Given the description of an element on the screen output the (x, y) to click on. 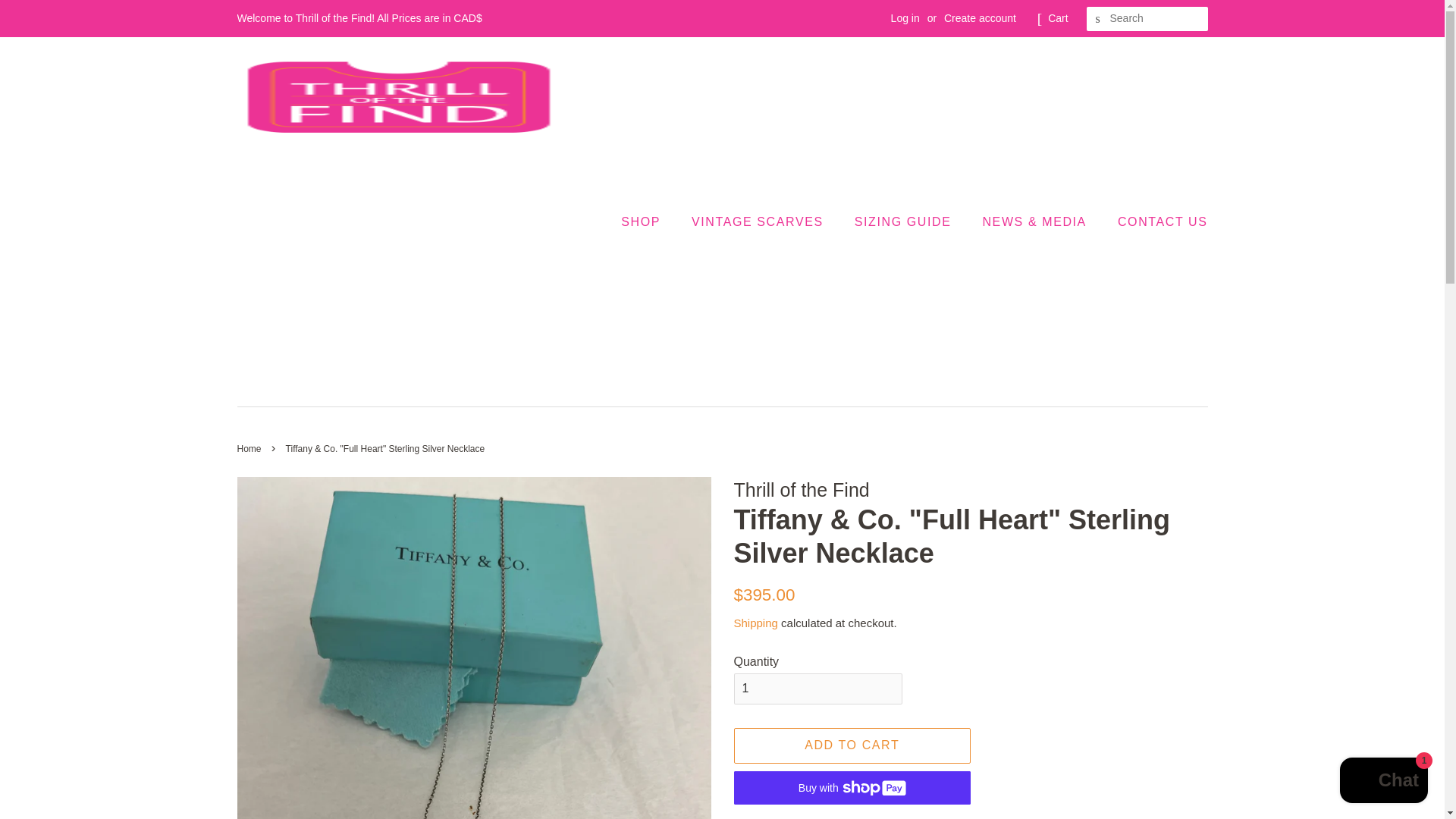
SEARCH (1097, 18)
Create account (979, 18)
SIZING GUIDE (904, 221)
ADD TO CART (852, 745)
CONTACT US (1157, 221)
VINTAGE SCARVES (758, 221)
Shopify online store chat (1383, 781)
1 (817, 688)
Home (249, 448)
Cart (1057, 18)
Back to the frontpage (249, 448)
More payment options (852, 815)
Log in (905, 18)
Shipping (755, 622)
SHOP (648, 221)
